Given the description of an element on the screen output the (x, y) to click on. 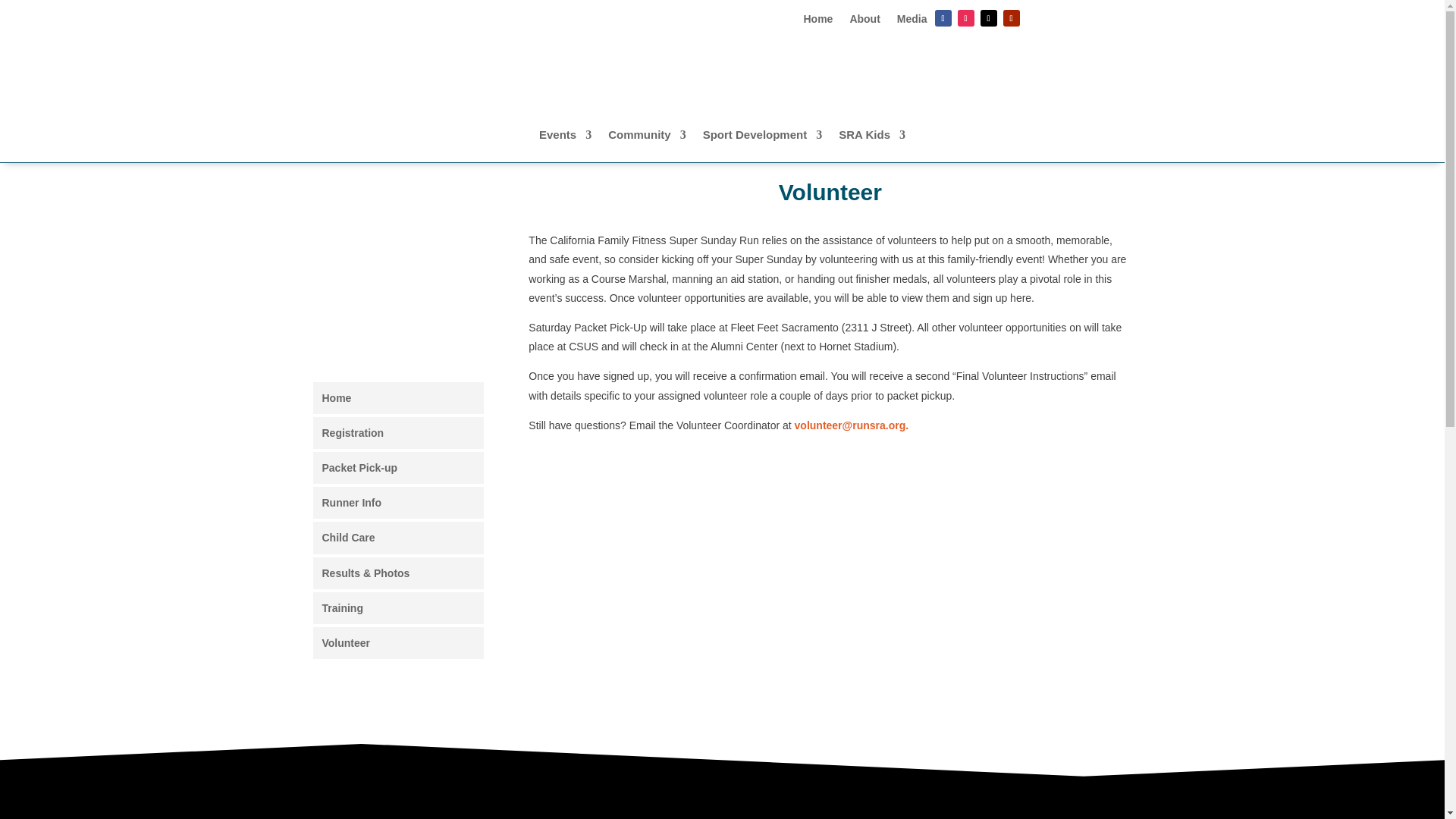
Sport Development (762, 145)
Follow on X (987, 17)
Media (911, 21)
Events (564, 145)
Home (817, 21)
Child Care (398, 537)
Runner Info (398, 502)
Community (646, 145)
About (863, 21)
Packet Pick-up (398, 468)
